Given the description of an element on the screen output the (x, y) to click on. 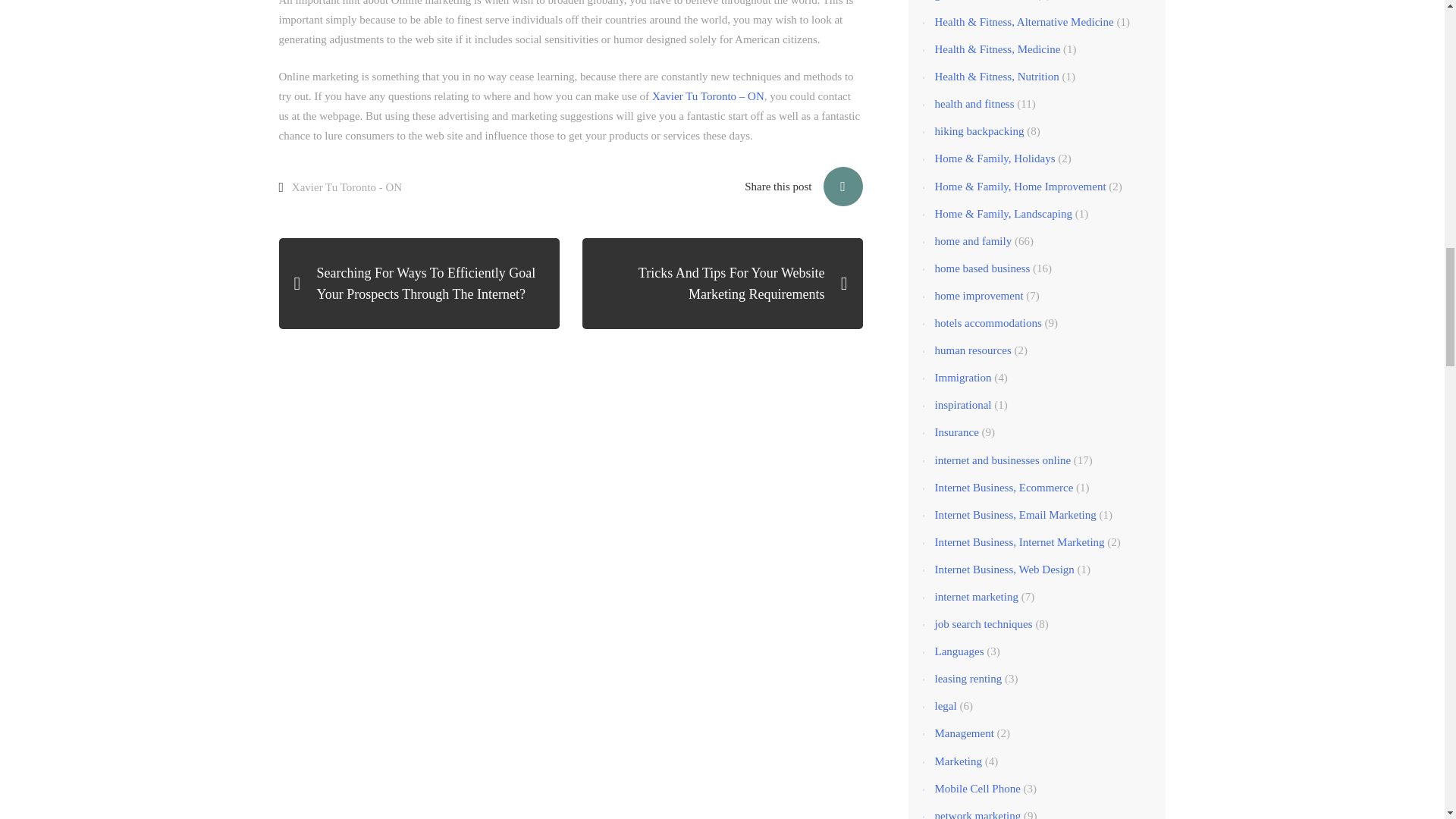
Tricks And Tips For Your Website Marketing Requirements (722, 283)
Xavier Tu Toronto - ON (346, 186)
